Given the description of an element on the screen output the (x, y) to click on. 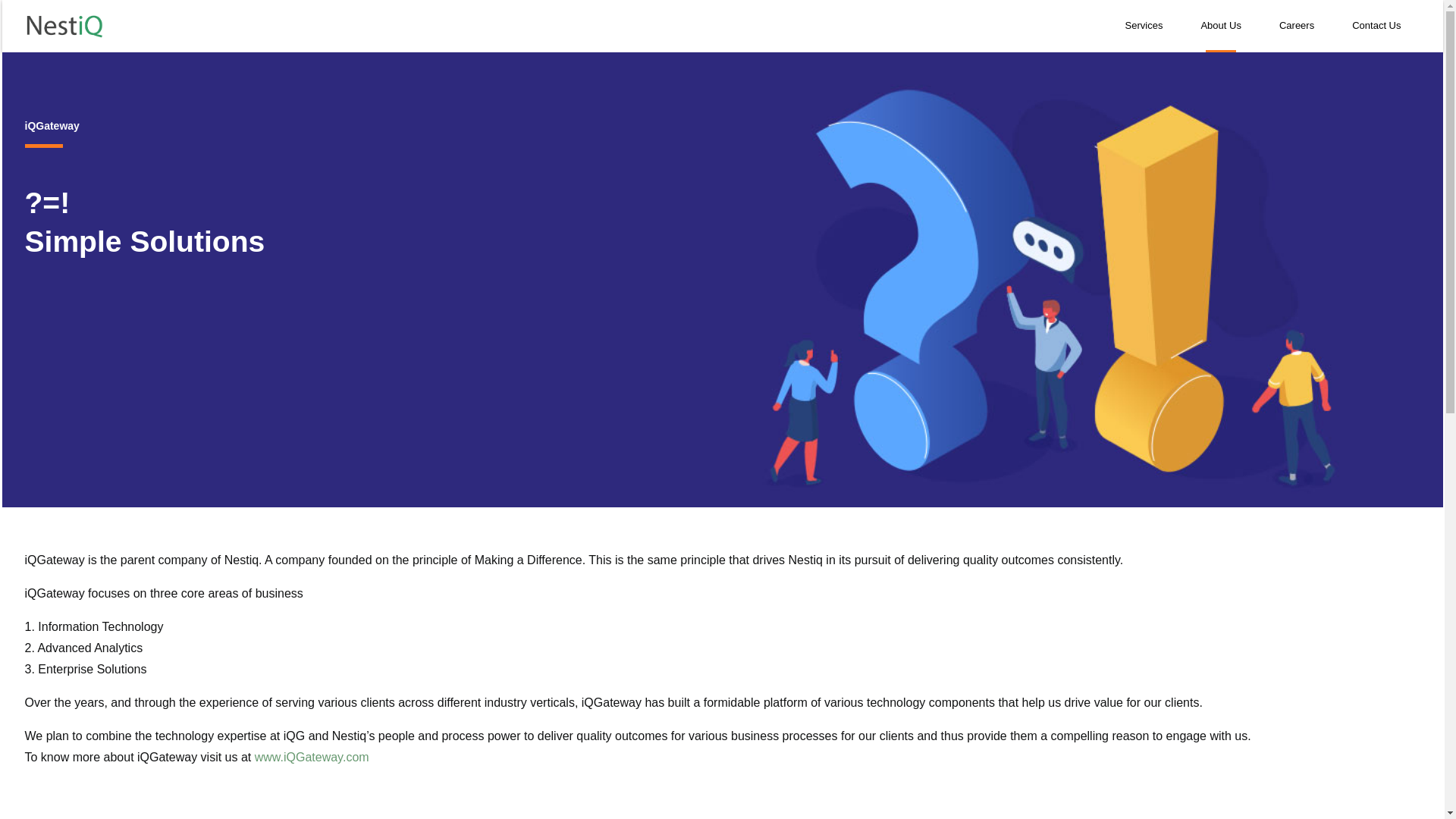
Contact Us (1376, 25)
About Us (1219, 25)
www.iQGateway.com (311, 757)
Careers (1296, 25)
Services (1144, 25)
